Given the description of an element on the screen output the (x, y) to click on. 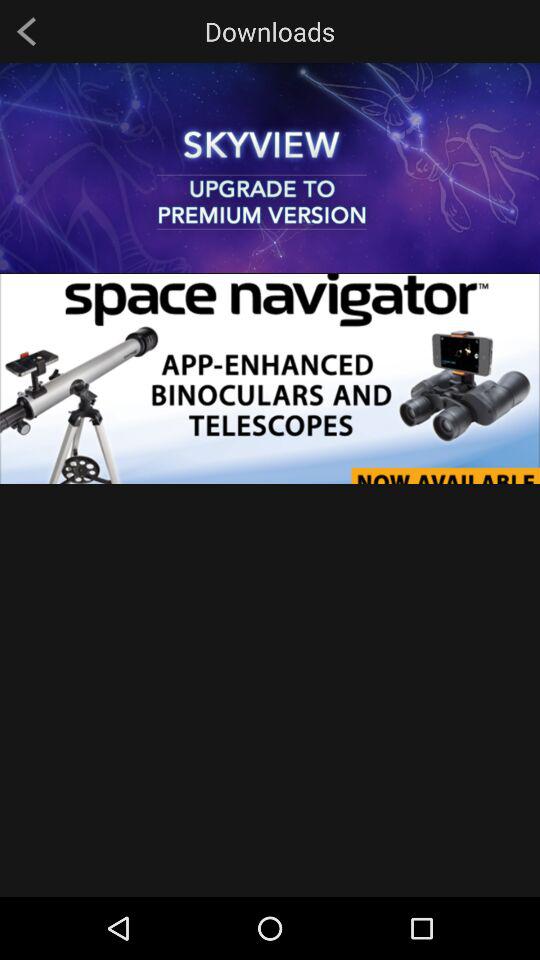
launch item at the top left corner (26, 31)
